Given the description of an element on the screen output the (x, y) to click on. 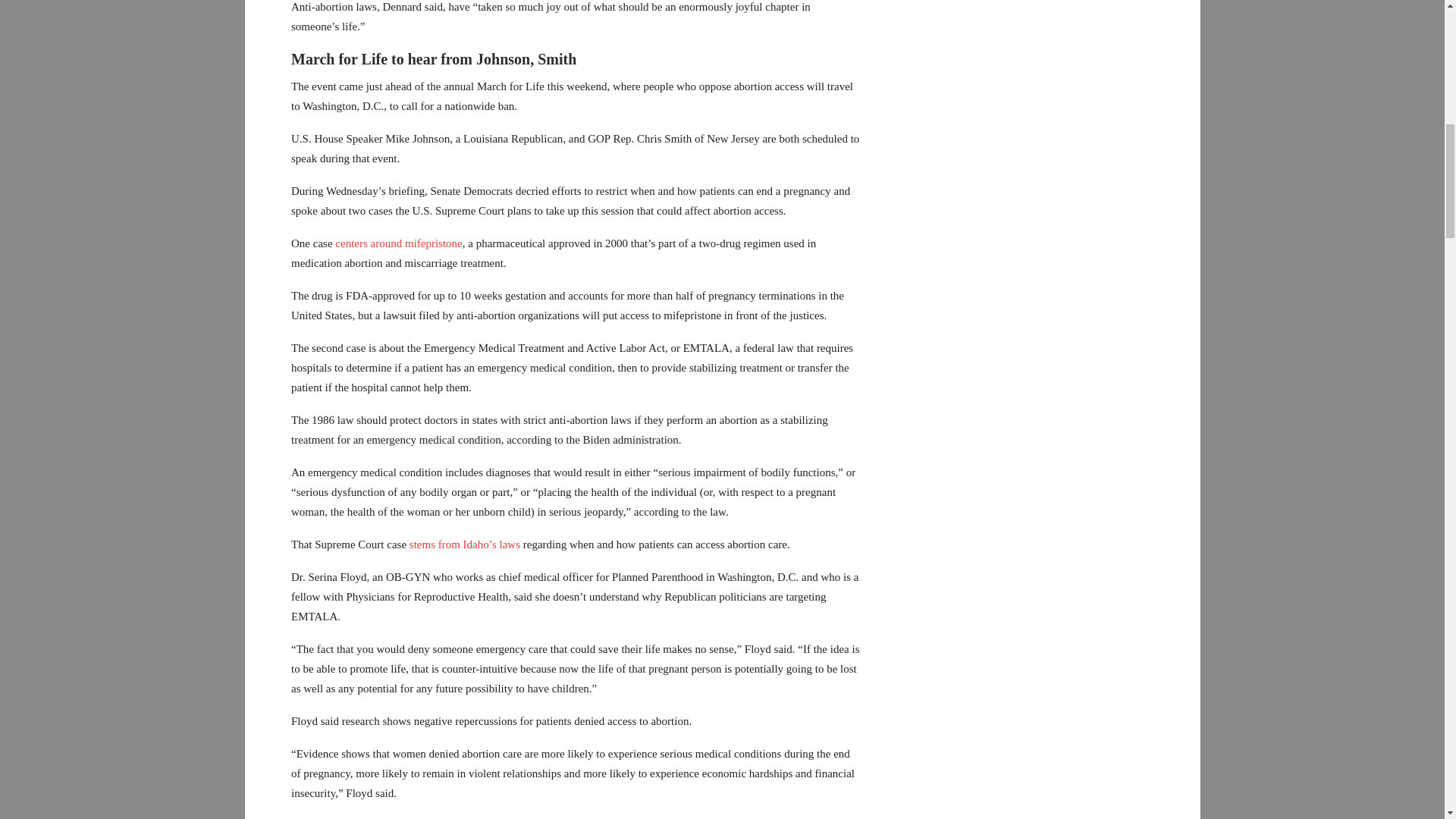
centers around mifepristone (397, 243)
